Given the description of an element on the screen output the (x, y) to click on. 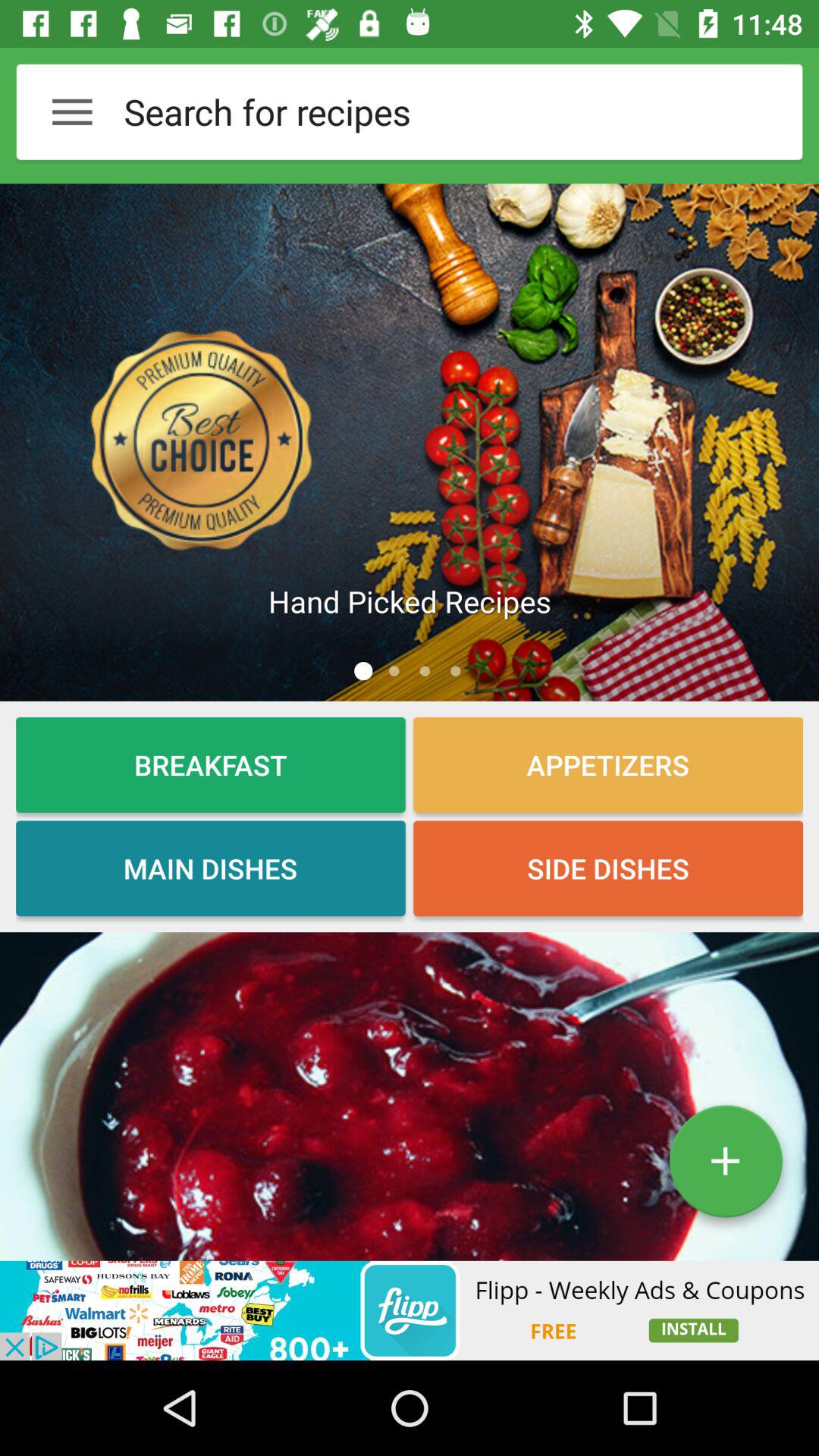
click the appetizers button on the web page (608, 764)
click on breakfast (210, 764)
click on search for recipes (425, 111)
